Given the description of an element on the screen output the (x, y) to click on. 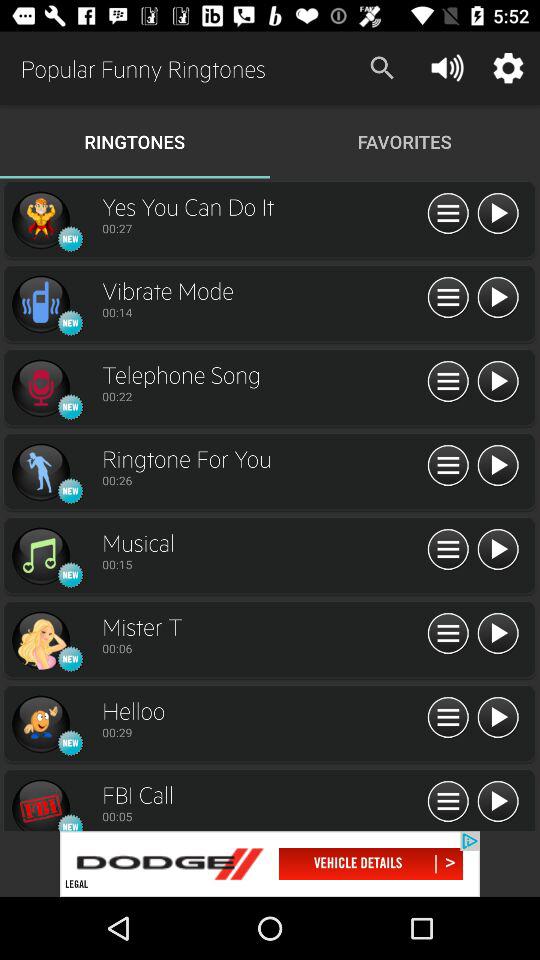
play (497, 717)
